Given the description of an element on the screen output the (x, y) to click on. 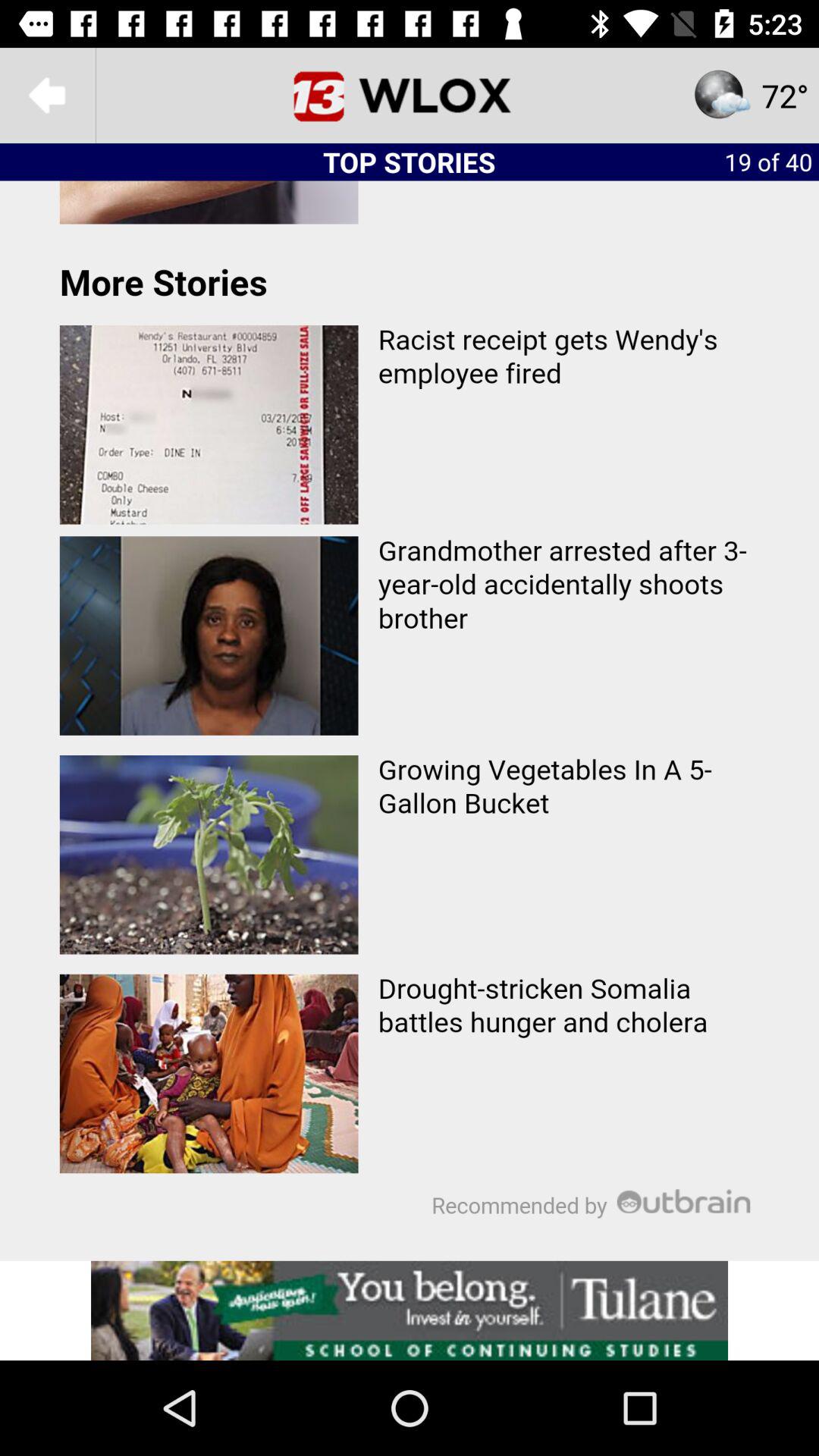
advertisement for tulane (409, 1310)
